Given the description of an element on the screen output the (x, y) to click on. 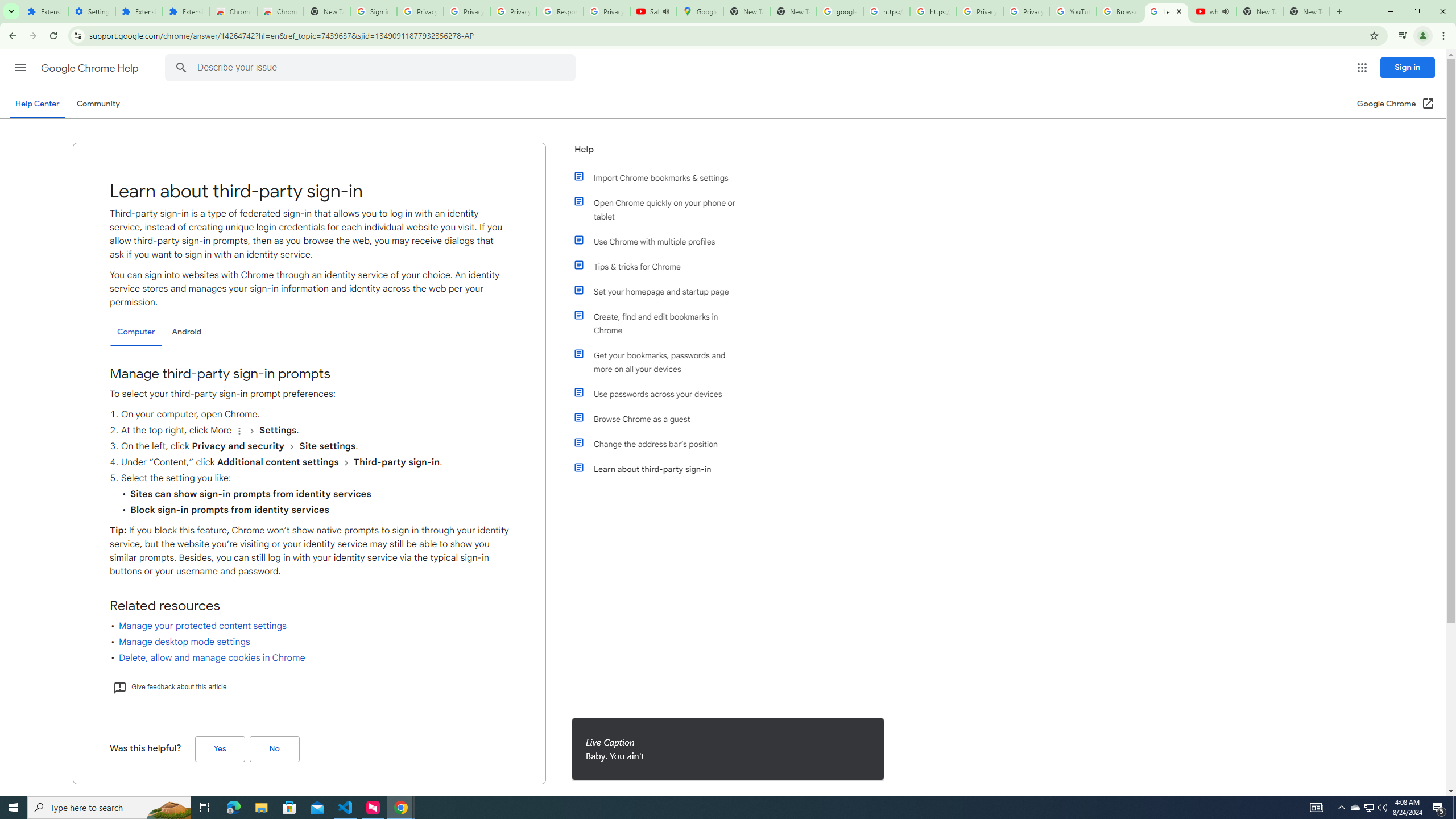
Computer (136, 332)
Import Chrome bookmarks & settings (661, 177)
Get your bookmarks, passwords and more on all your devices (661, 362)
Android (186, 331)
Chrome Web Store (233, 11)
Settings (91, 11)
Organize (239, 430)
Chrome Web Store - Themes (279, 11)
